Given the description of an element on the screen output the (x, y) to click on. 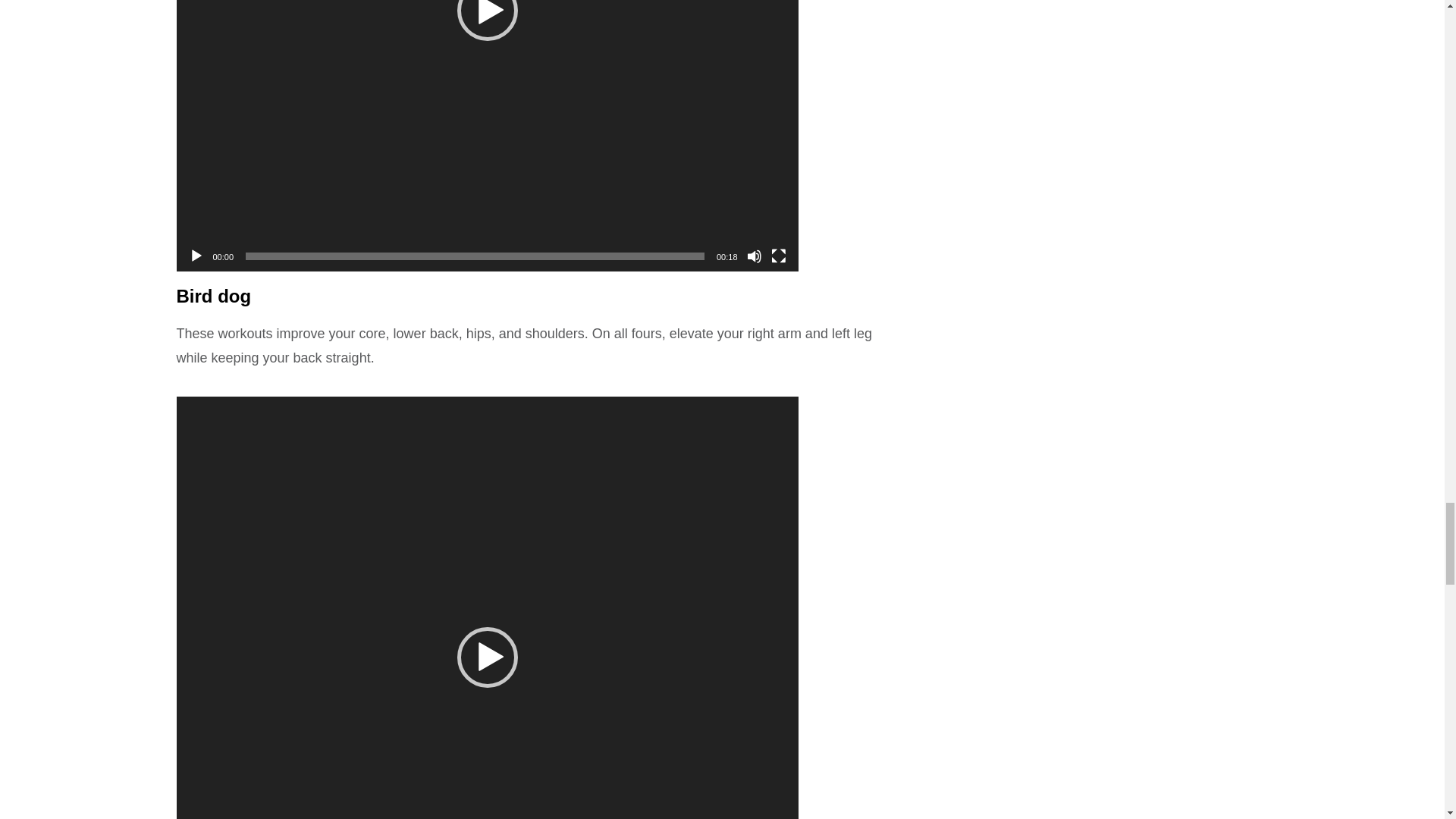
Play (195, 255)
Mute (753, 255)
